Given the description of an element on the screen output the (x, y) to click on. 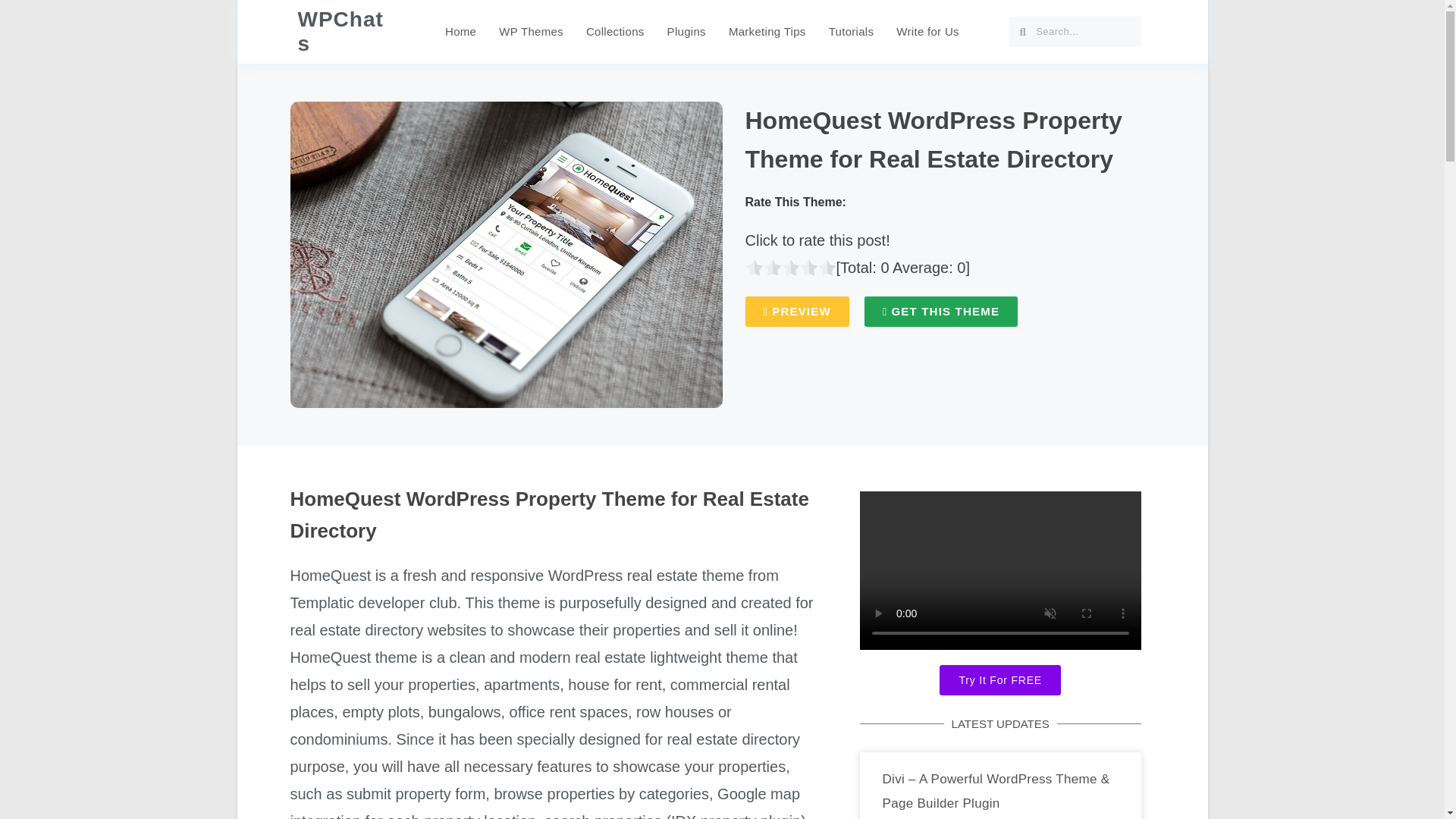
Write for Us (928, 31)
WordPress Plugins (686, 31)
WPChats (339, 31)
Home (460, 31)
HomeQuest WordPress Property Theme for Real Estate Directory (932, 139)
Marketing Tips (766, 31)
PREVIEW (796, 311)
Homepage (460, 31)
Collections (615, 31)
Try It For FREE (999, 680)
Plugins (686, 31)
Best Collection of WordPress Themes (615, 31)
Tutorials (850, 31)
GET THIS THEME (940, 311)
WP Themes (531, 31)
